Given the description of an element on the screen output the (x, y) to click on. 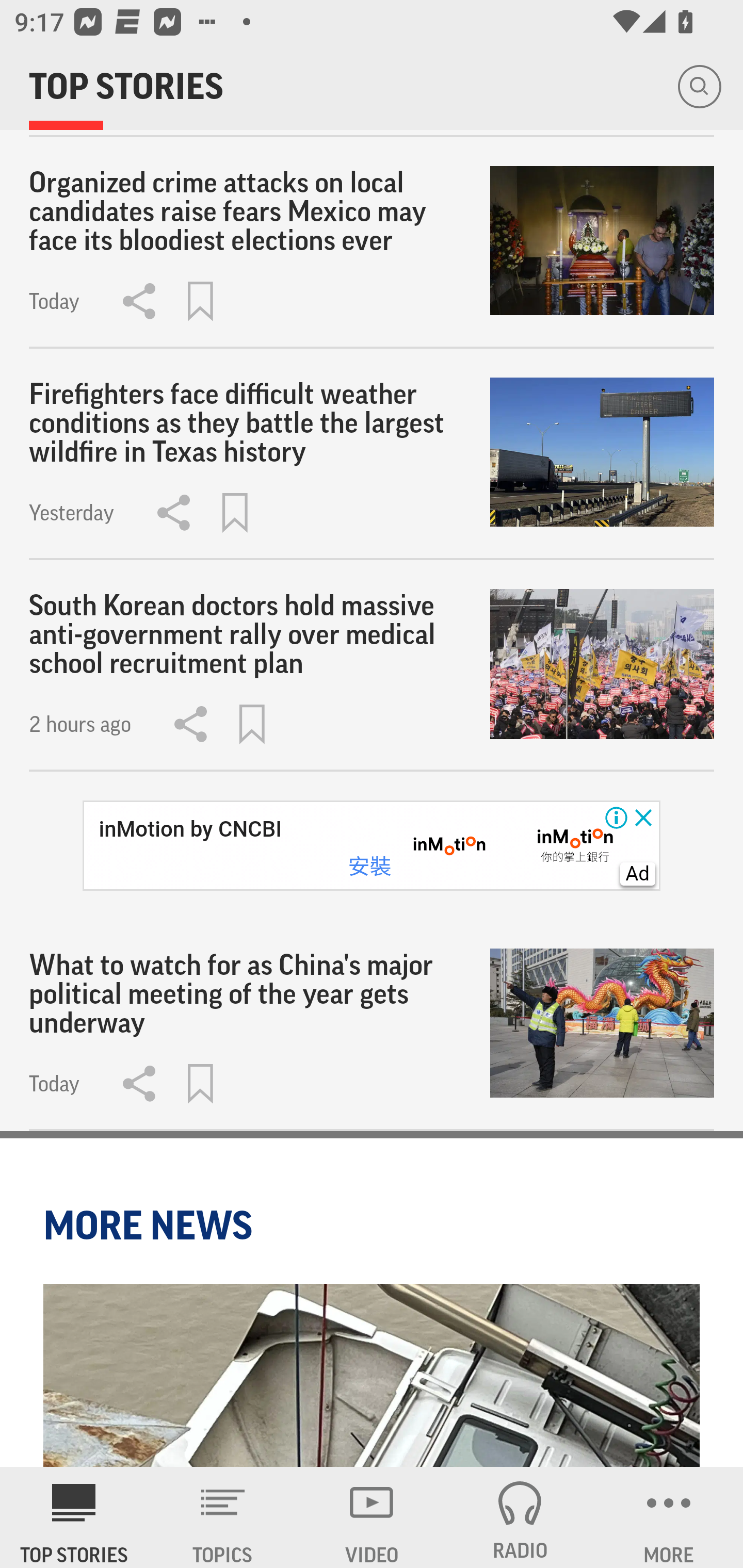
inMotion by CNCBI (190, 829)
安裝 (369, 866)
MORE NEWS (151, 1225)
AP News TOP STORIES (74, 1517)
TOPICS (222, 1517)
VIDEO (371, 1517)
RADIO (519, 1517)
MORE (668, 1517)
